Given the description of an element on the screen output the (x, y) to click on. 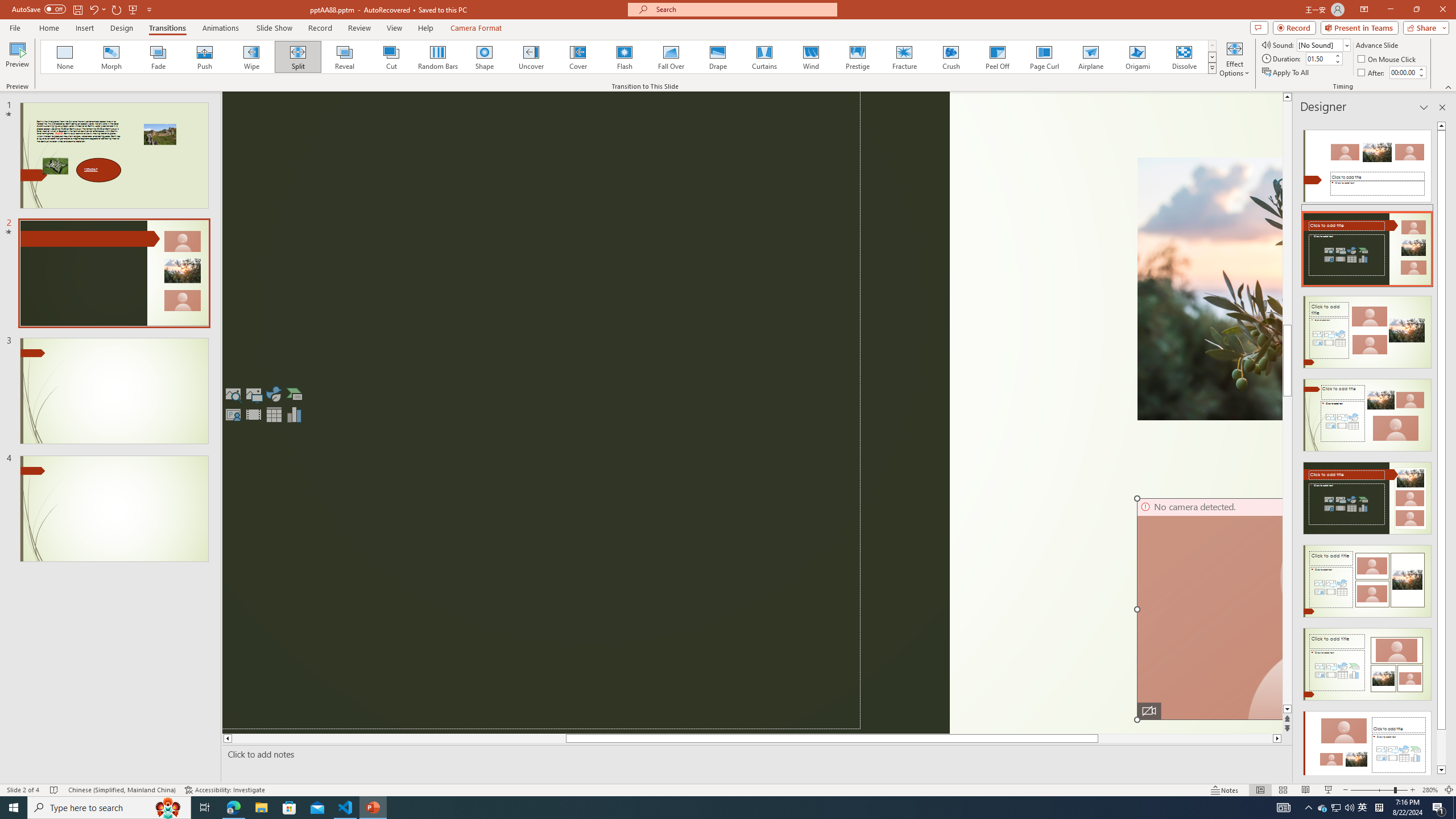
More (1420, 69)
Uncover (531, 56)
AutomationID: AnimationTransitionGallery (628, 56)
Wipe (251, 56)
Class: MsoCommandBar (728, 789)
Row Down (1212, 56)
Stock Images (232, 393)
Camera 13, No camera detected. (1208, 609)
Content Placeholder (541, 409)
